Given the description of an element on the screen output the (x, y) to click on. 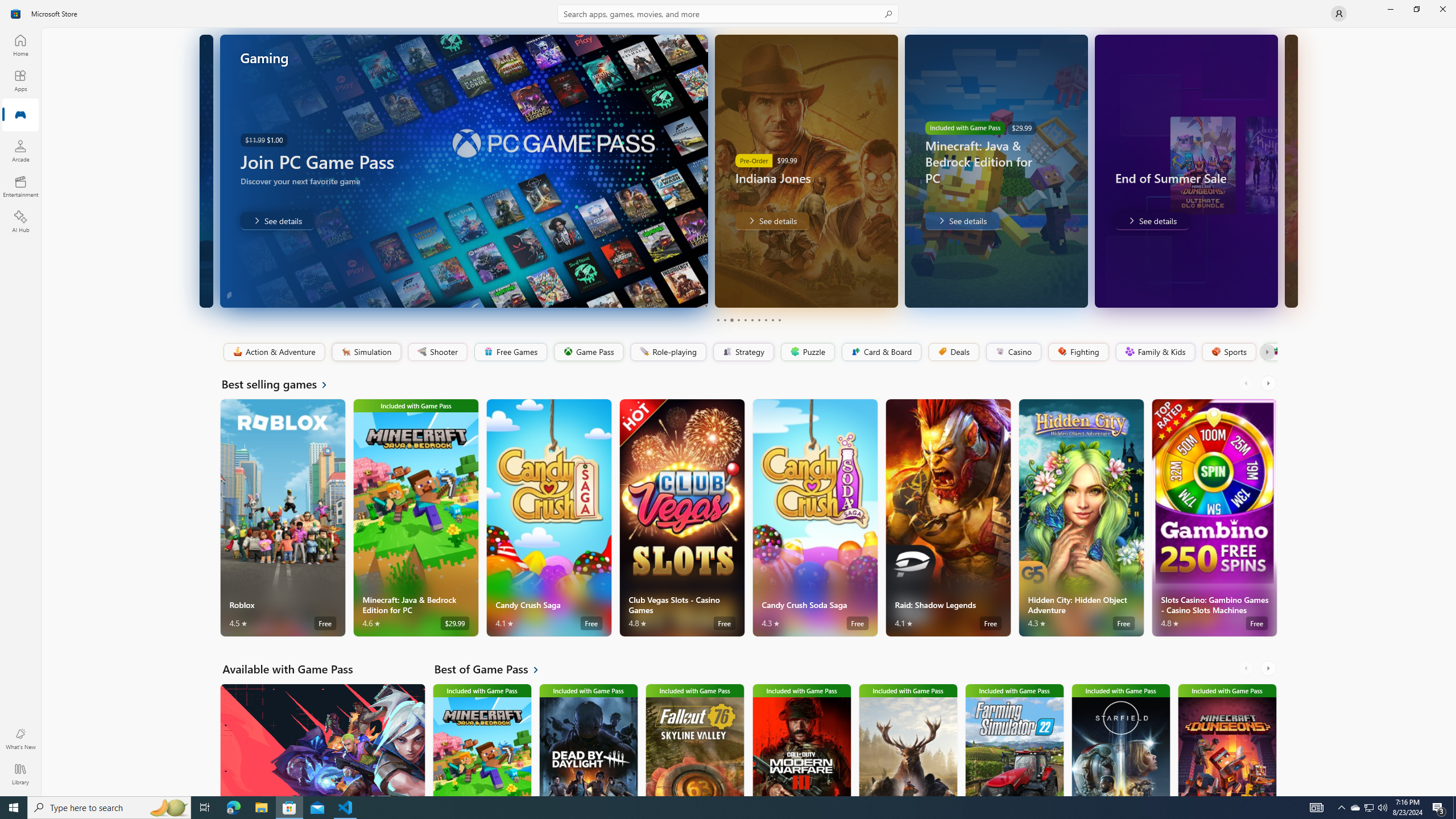
Page 8 (764, 319)
Fighting (1078, 352)
AutomationID: Image (1290, 170)
AutomationID: NavigationControl (728, 398)
Deals (952, 352)
